Given the description of an element on the screen output the (x, y) to click on. 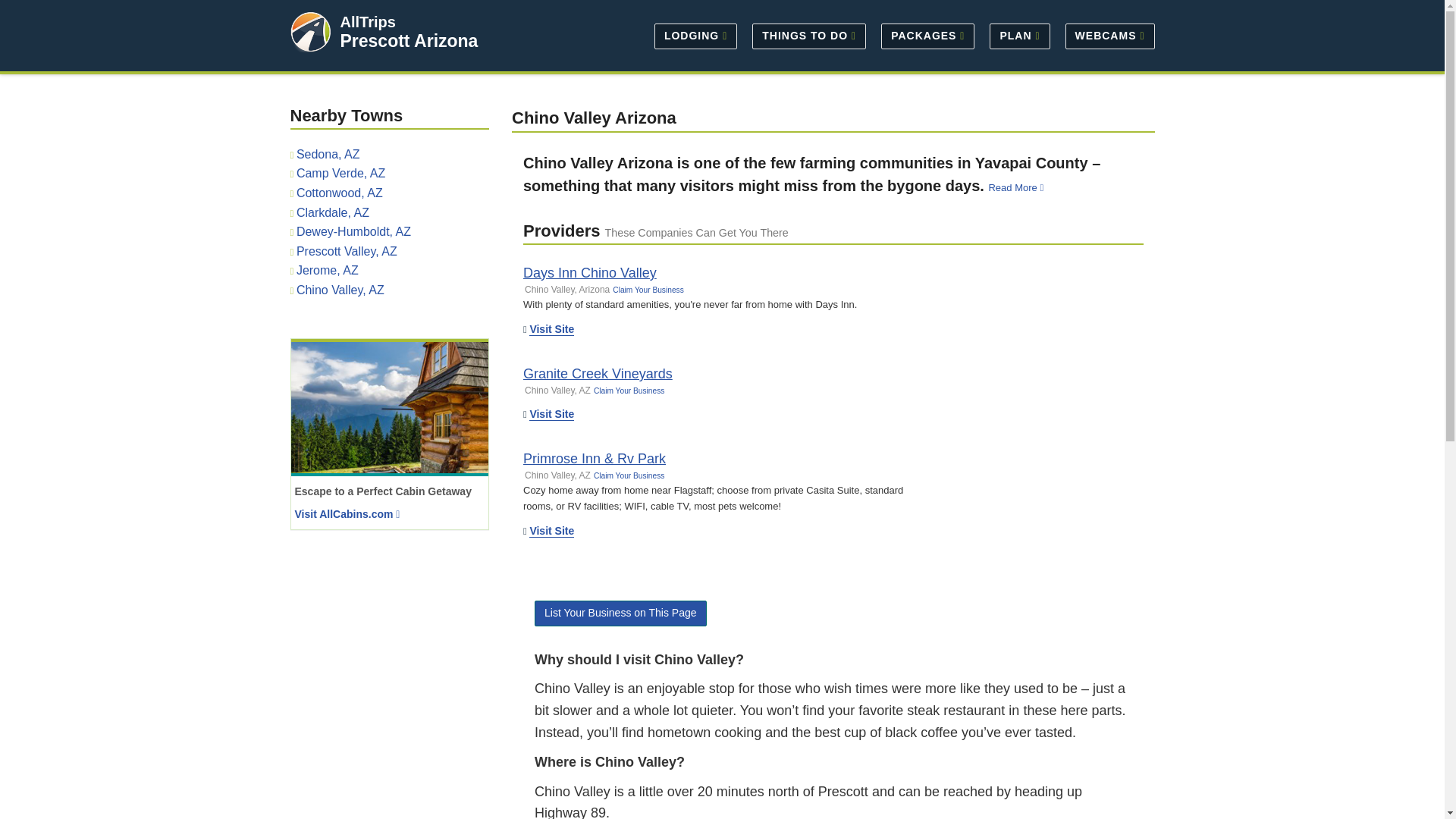
Prescott Arizona (408, 40)
PACKAGES (927, 35)
Visit Site (551, 328)
WEBCAMS (1106, 35)
LODGING (695, 35)
AllTrips (366, 21)
Read More (1017, 187)
Claim Your Business (647, 289)
THINGS TO DO (808, 35)
PLAN (1019, 35)
Days Inn Chino Valley (589, 272)
